Given the description of an element on the screen output the (x, y) to click on. 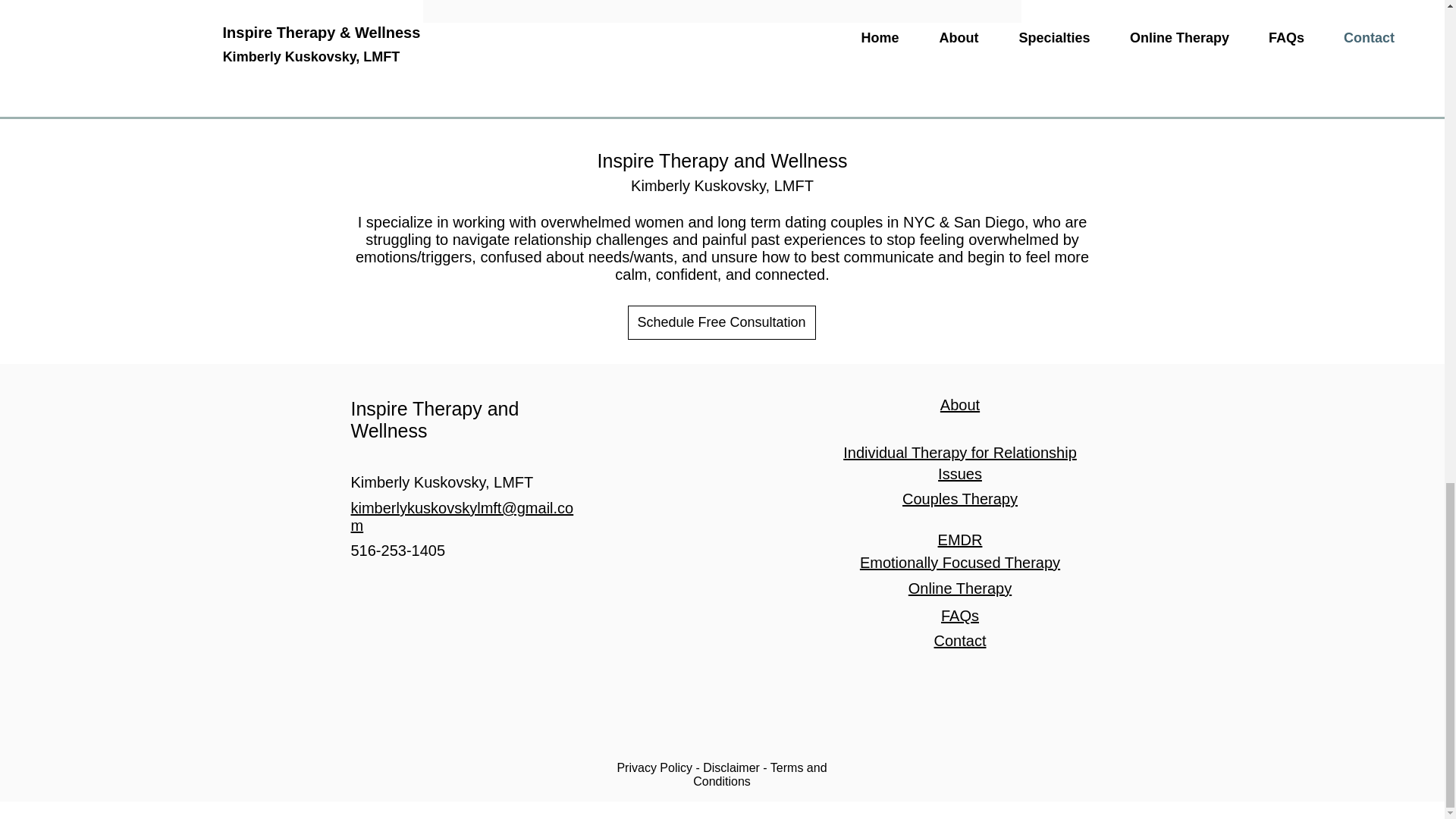
Individual Therapy for Relationship Issues (960, 463)
Online Therapy (959, 588)
Privacy Policy -  (659, 767)
Contact (960, 640)
Disclaimer -  (736, 767)
About (959, 404)
Terms and Conditions (760, 774)
Couples Therapy (959, 498)
EMDR (959, 539)
Emotionally Focused Therapy (959, 562)
